Given the description of an element on the screen output the (x, y) to click on. 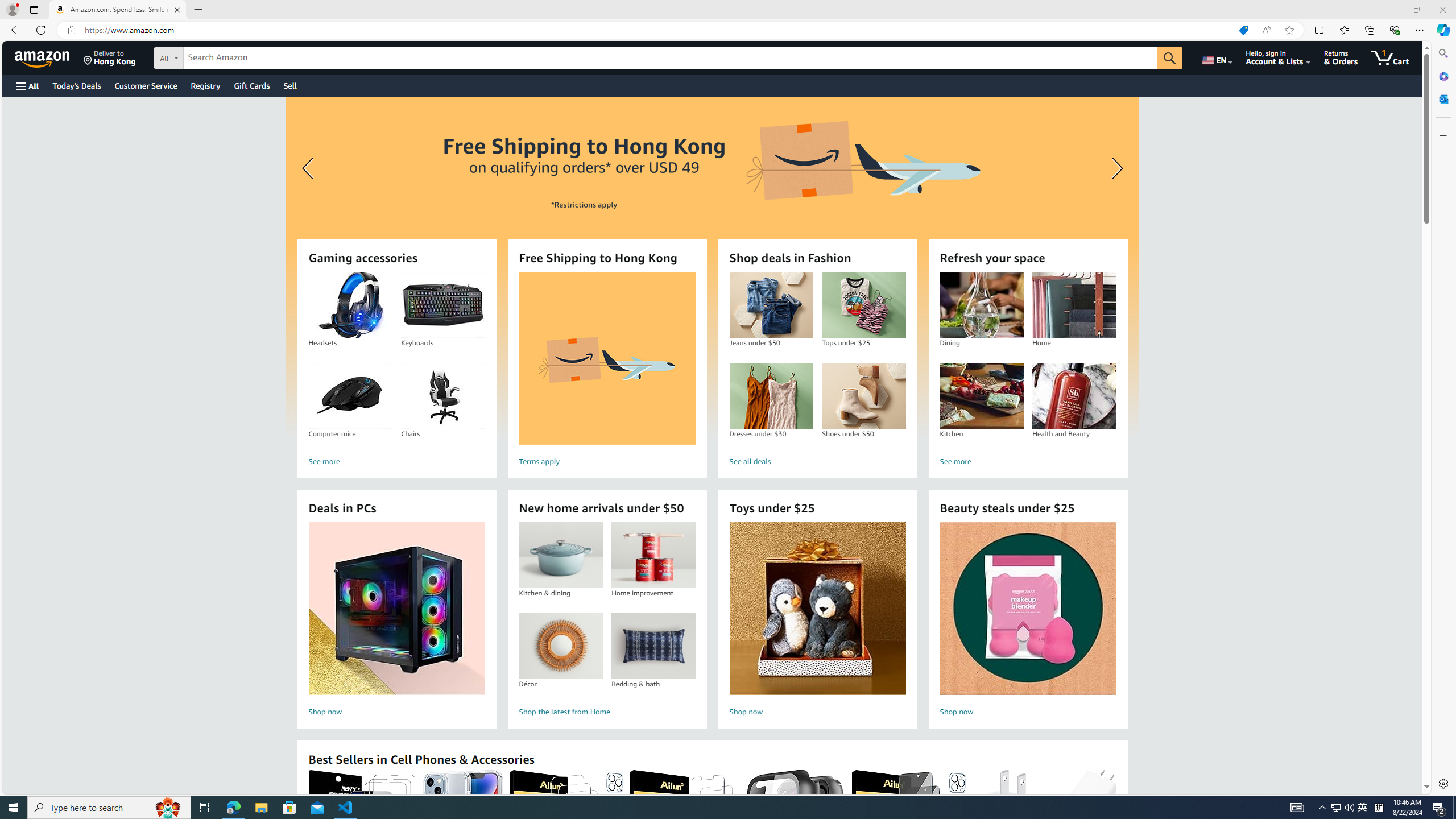
Chairs (442, 395)
Title actions (1347, 9)
Returns & Orders (1340, 57)
Debug Console (Ctrl+Shift+Y) (289, 539)
Split Editor Right (Ctrl+\) [Alt] Split Editor Down (1428, 29)
Maximize Panel Size (1428, 539)
Shop the latest from Home (606, 712)
Launch Profile... (1400, 539)
Keyboards (443, 304)
Shoes under $50 (863, 395)
Skip to main content (1335, 807)
Class: a-carousel-card (48, 56)
Explorer Section: windows_crawler (711, 267)
